Given the description of an element on the screen output the (x, y) to click on. 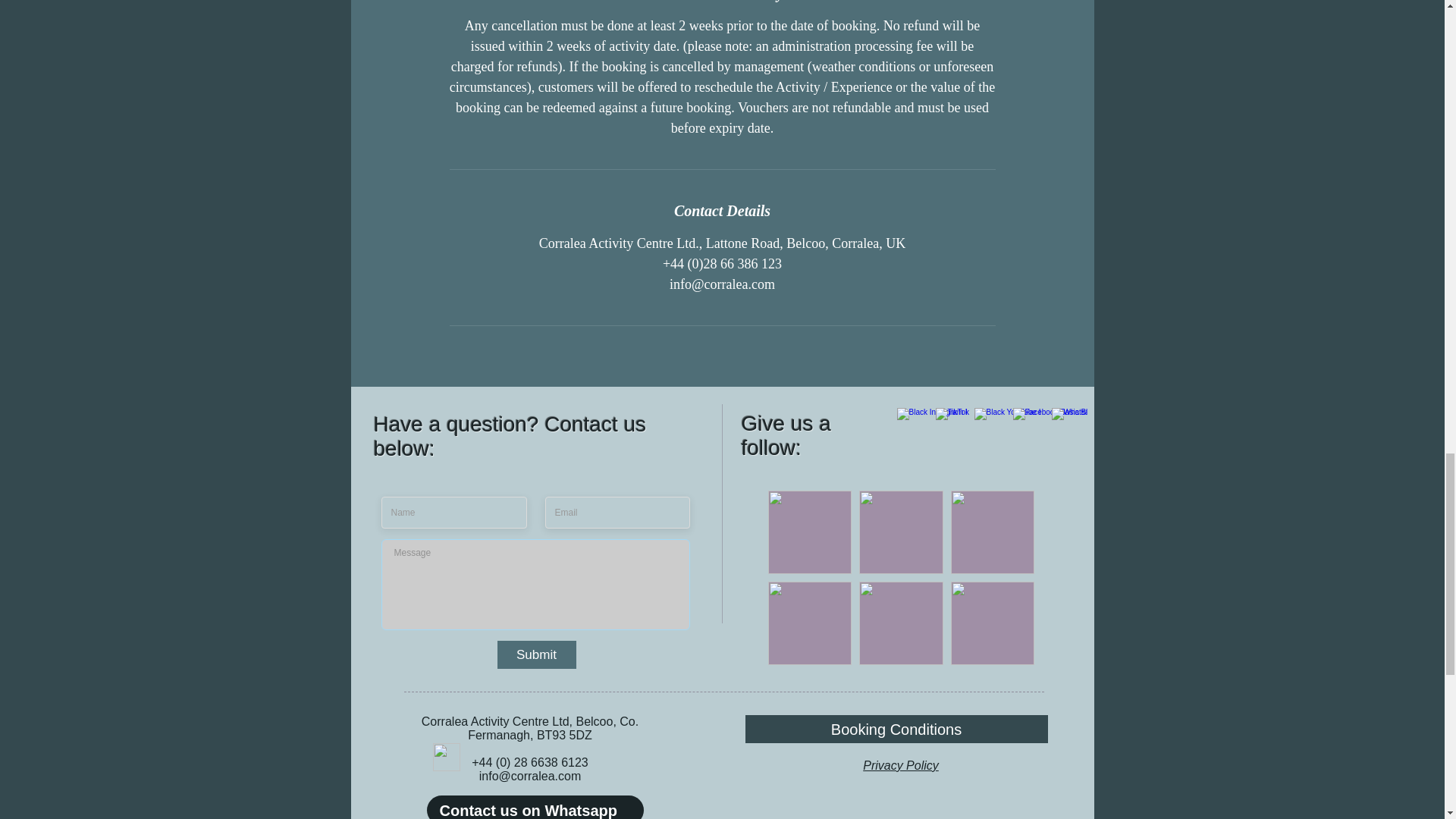
Submit (536, 654)
Contact us on Whatsapp (534, 807)
Privacy Policy (901, 765)
Booking Conditions (895, 728)
